Given the description of an element on the screen output the (x, y) to click on. 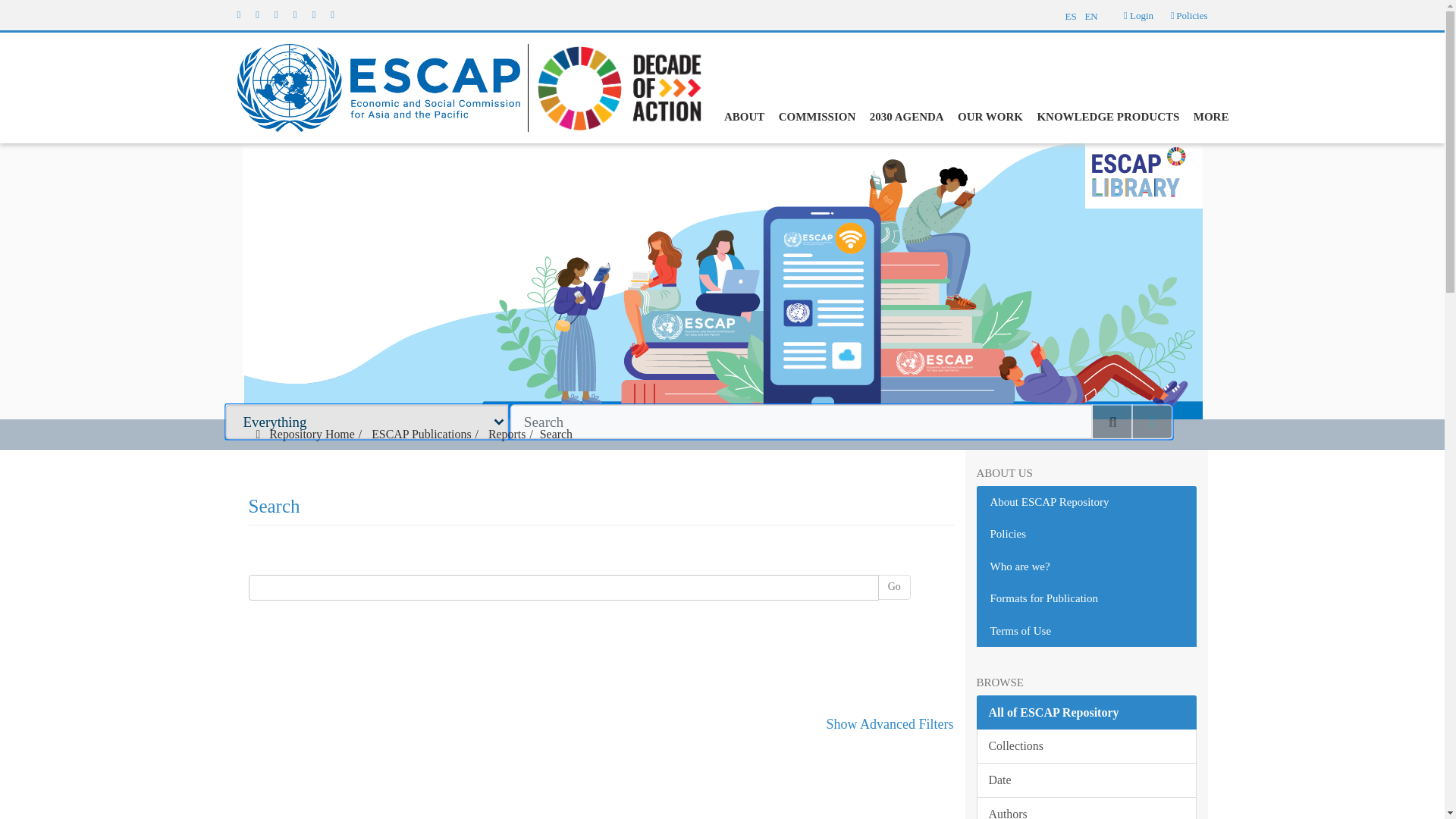
ES (1069, 14)
Decade of action (614, 86)
Login (1138, 15)
Policies (1191, 15)
EN (1097, 14)
